Given the description of an element on the screen output the (x, y) to click on. 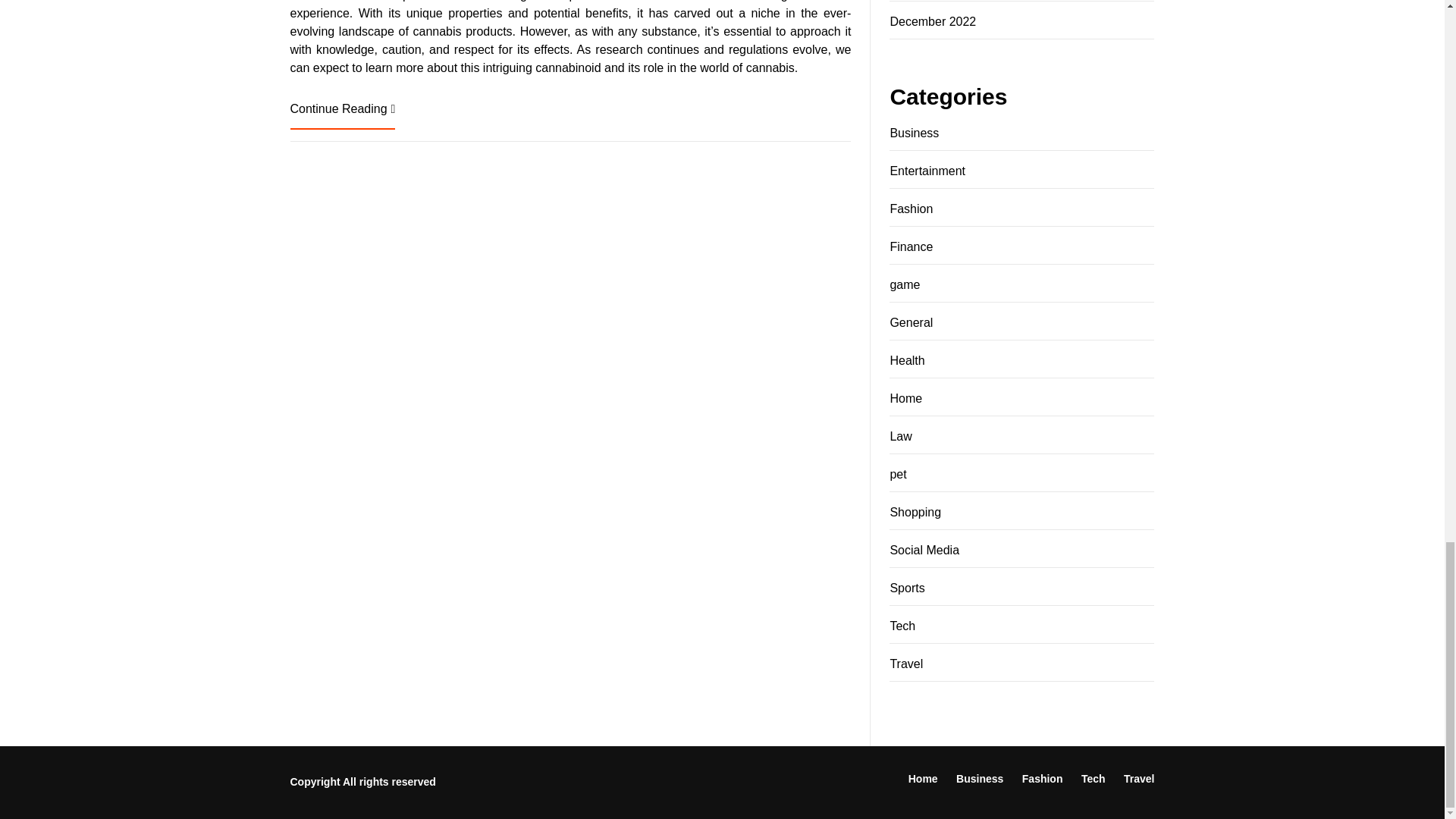
Continue Reading (341, 108)
